Given the description of an element on the screen output the (x, y) to click on. 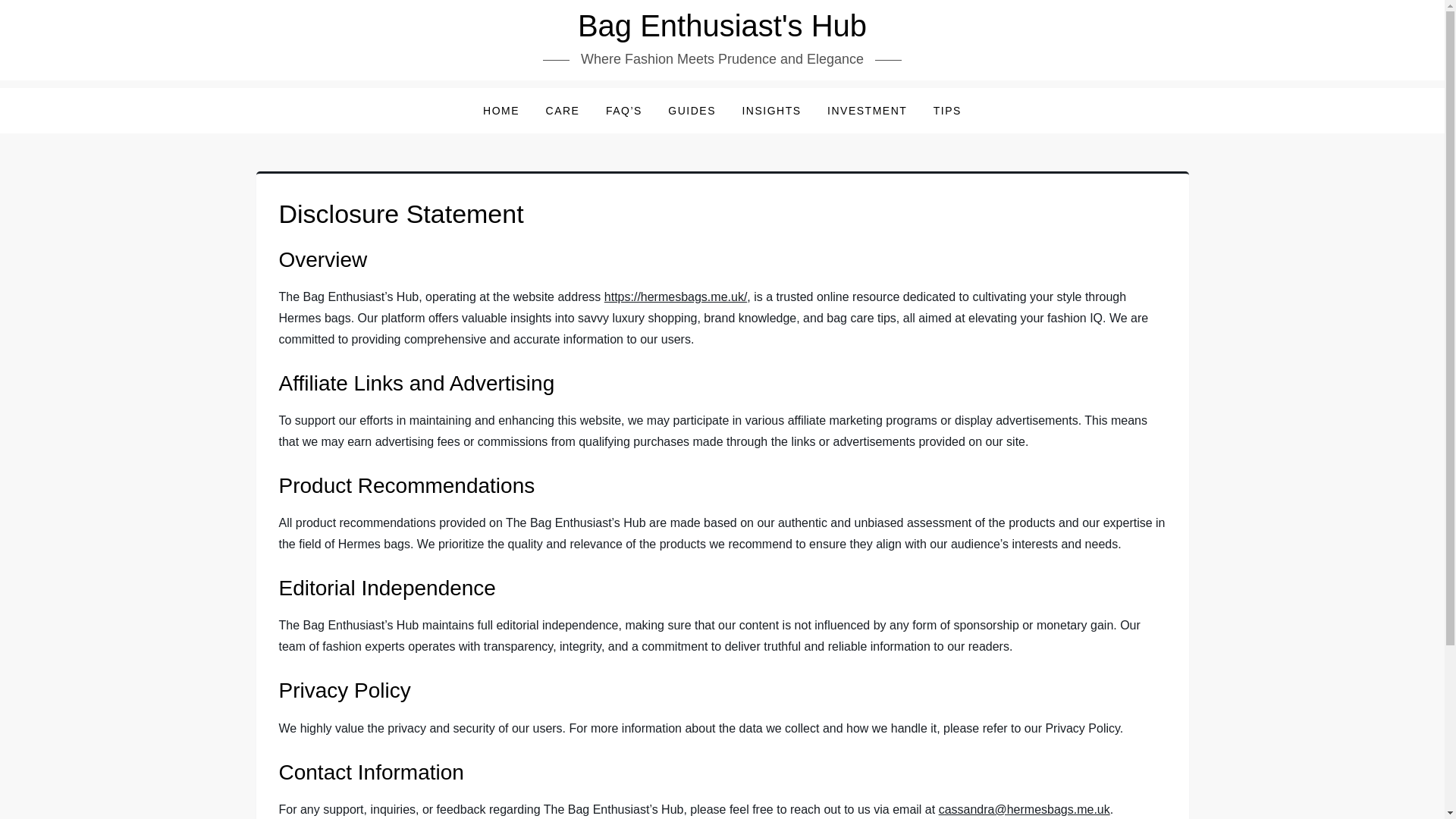
INVESTMENT (866, 110)
GUIDES (691, 110)
CARE (562, 110)
HOME (501, 110)
INSIGHTS (771, 110)
Bag Enthusiast's Hub (722, 25)
TIPS (946, 110)
